Given the description of an element on the screen output the (x, y) to click on. 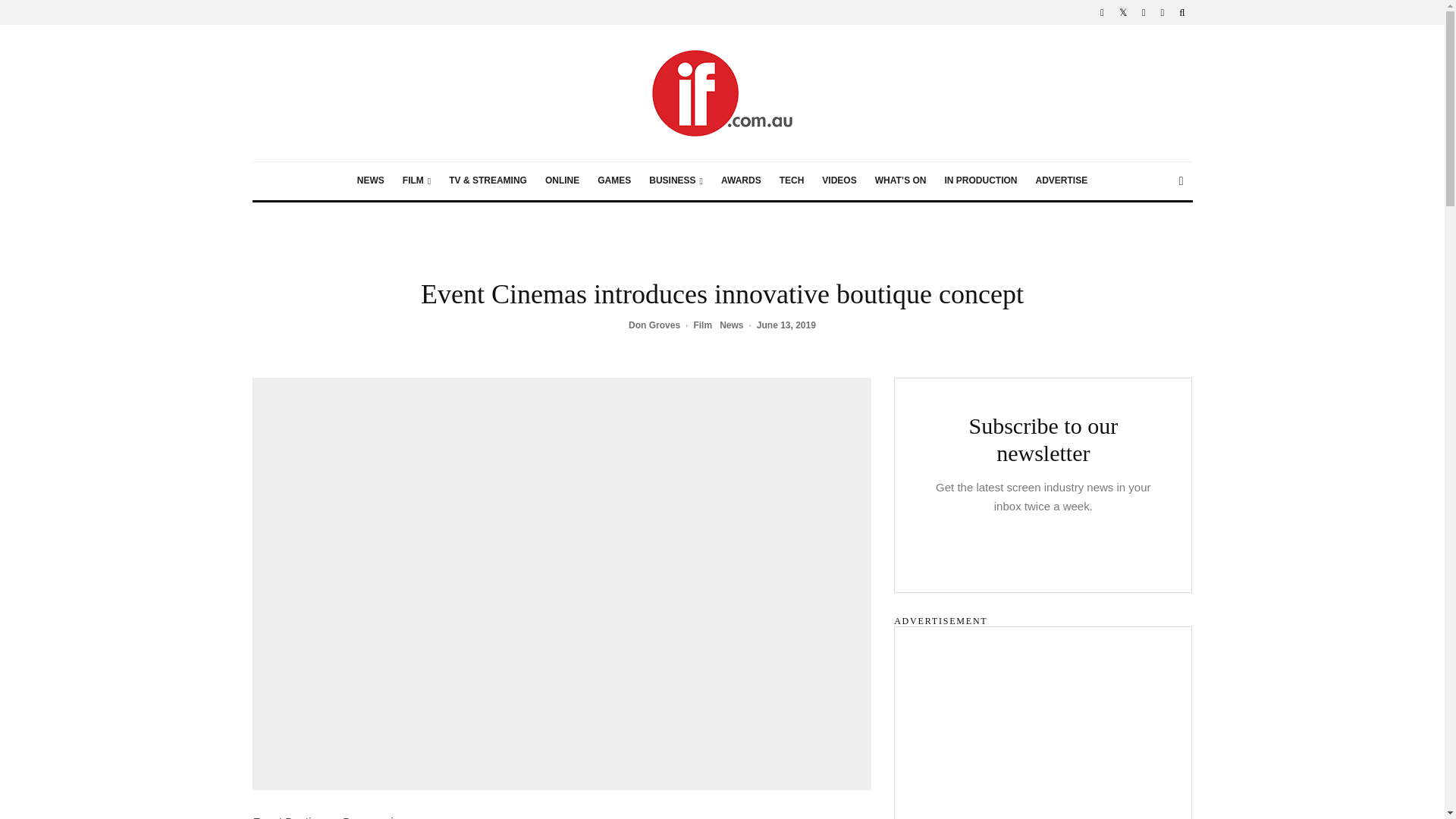
Posts by Don Groves (653, 325)
AWARDS (740, 180)
BUSINESS (675, 180)
NEWS (370, 180)
VIDEOS (838, 180)
ONLINE (561, 180)
ADVERTISE (1061, 180)
IN PRODUCTION (980, 180)
Don Groves (653, 325)
Film (702, 325)
GAMES (614, 180)
TECH (791, 180)
News (730, 325)
FILM (416, 180)
